Given the description of an element on the screen output the (x, y) to click on. 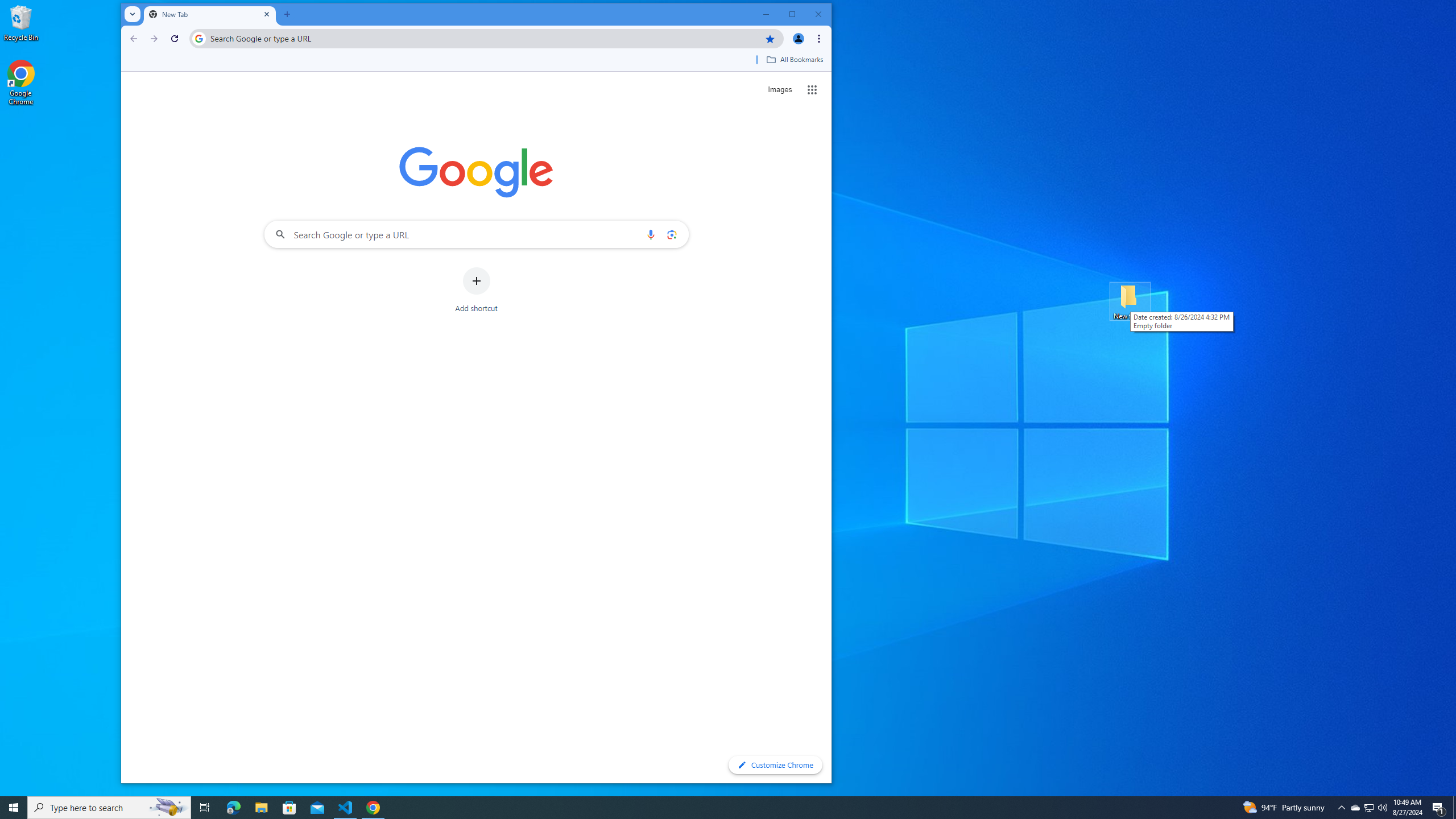
Google Chrome (21, 82)
New folder (1130, 301)
Recycle Bin (21, 22)
